Given the description of an element on the screen output the (x, y) to click on. 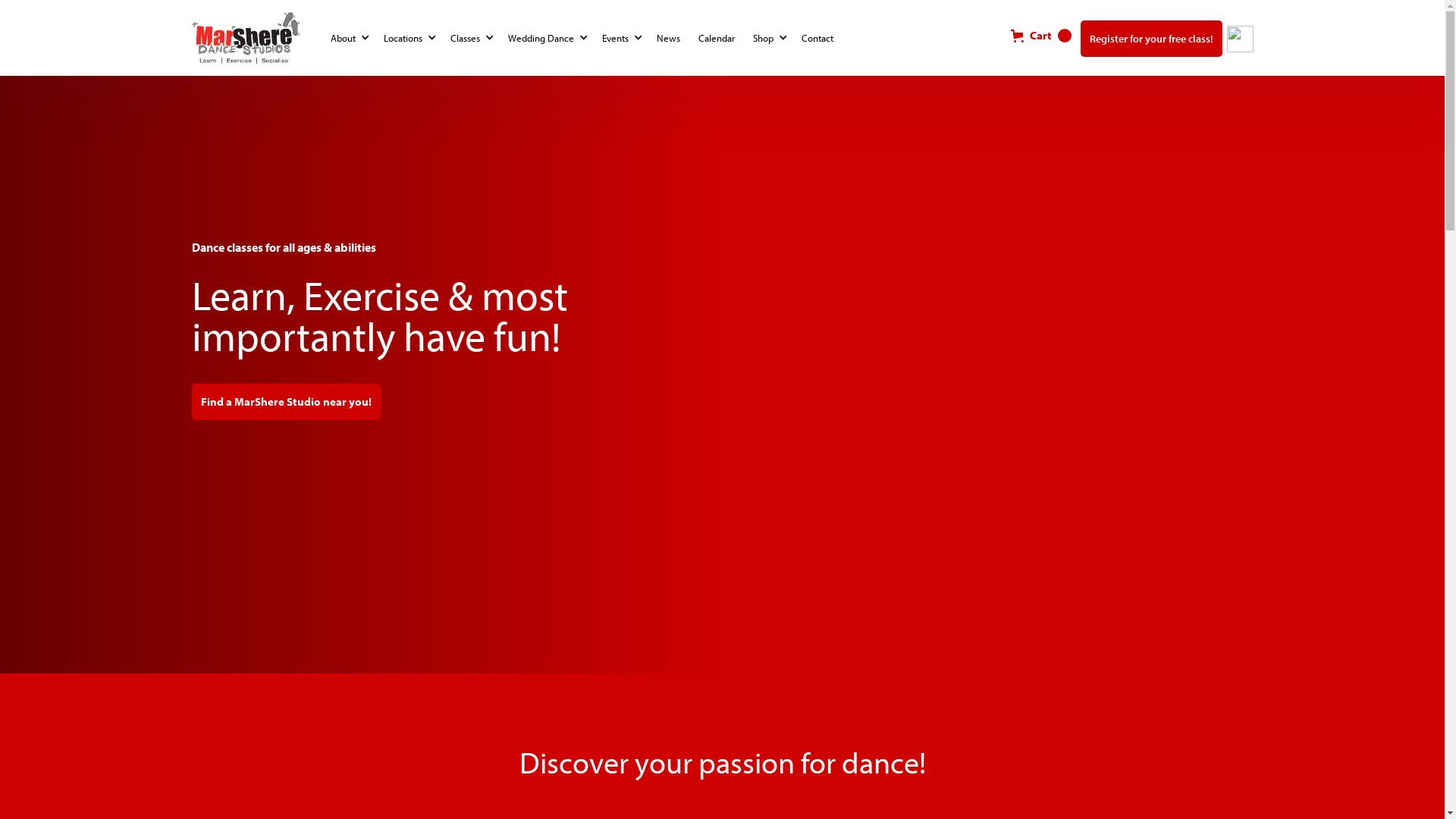
Register for your free class! Element type: text (1150, 38)
Cart Element type: text (1040, 35)
Calendar Element type: text (718, 37)
Contact Element type: text (819, 37)
News Element type: text (671, 37)
Find a MarShere Studio near you! Element type: text (285, 401)
